Given the description of an element on the screen output the (x, y) to click on. 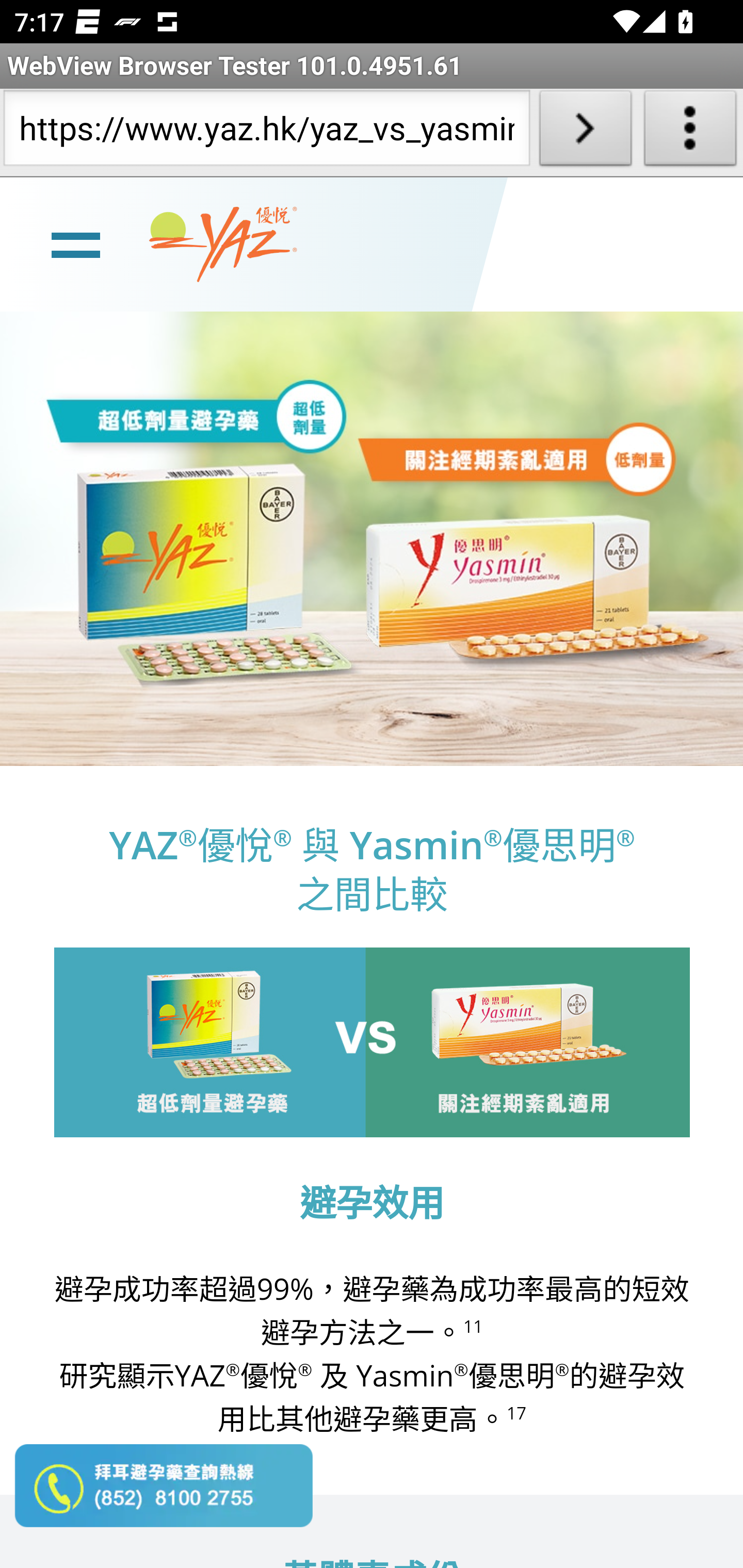
Load URL (585, 132)
About WebView (690, 132)
www.yaz (222, 244)
line Toggle burger menu (75, 242)
